Given the description of an element on the screen output the (x, y) to click on. 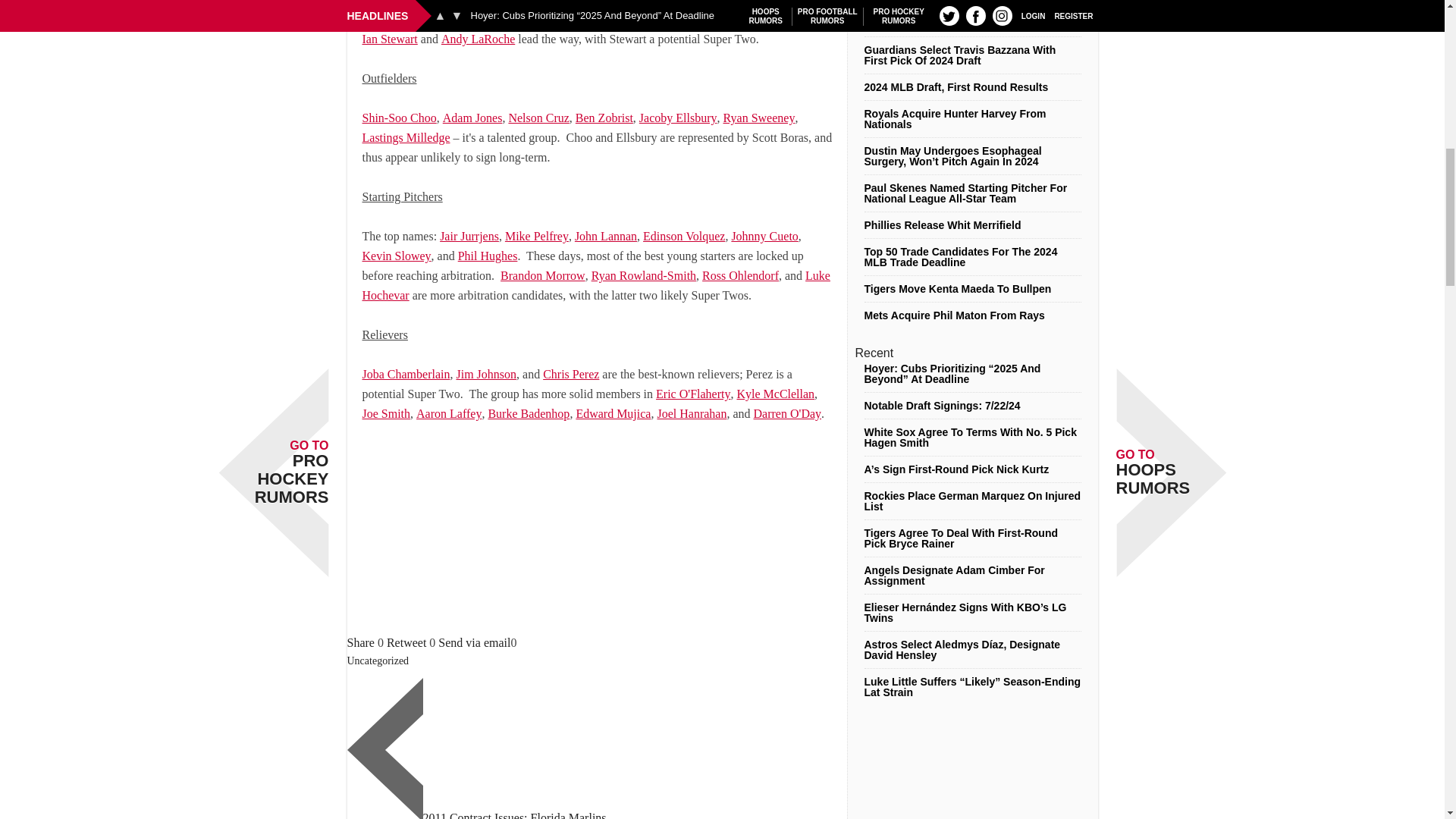
Retweet 'First Time Arbitration-Eligibles' on Twitter (406, 642)
Send First Time Arbitration-Eligibles with an email (474, 642)
Share 'First Time Arbitration-Eligibles' on Facebook (360, 642)
